Given the description of an element on the screen output the (x, y) to click on. 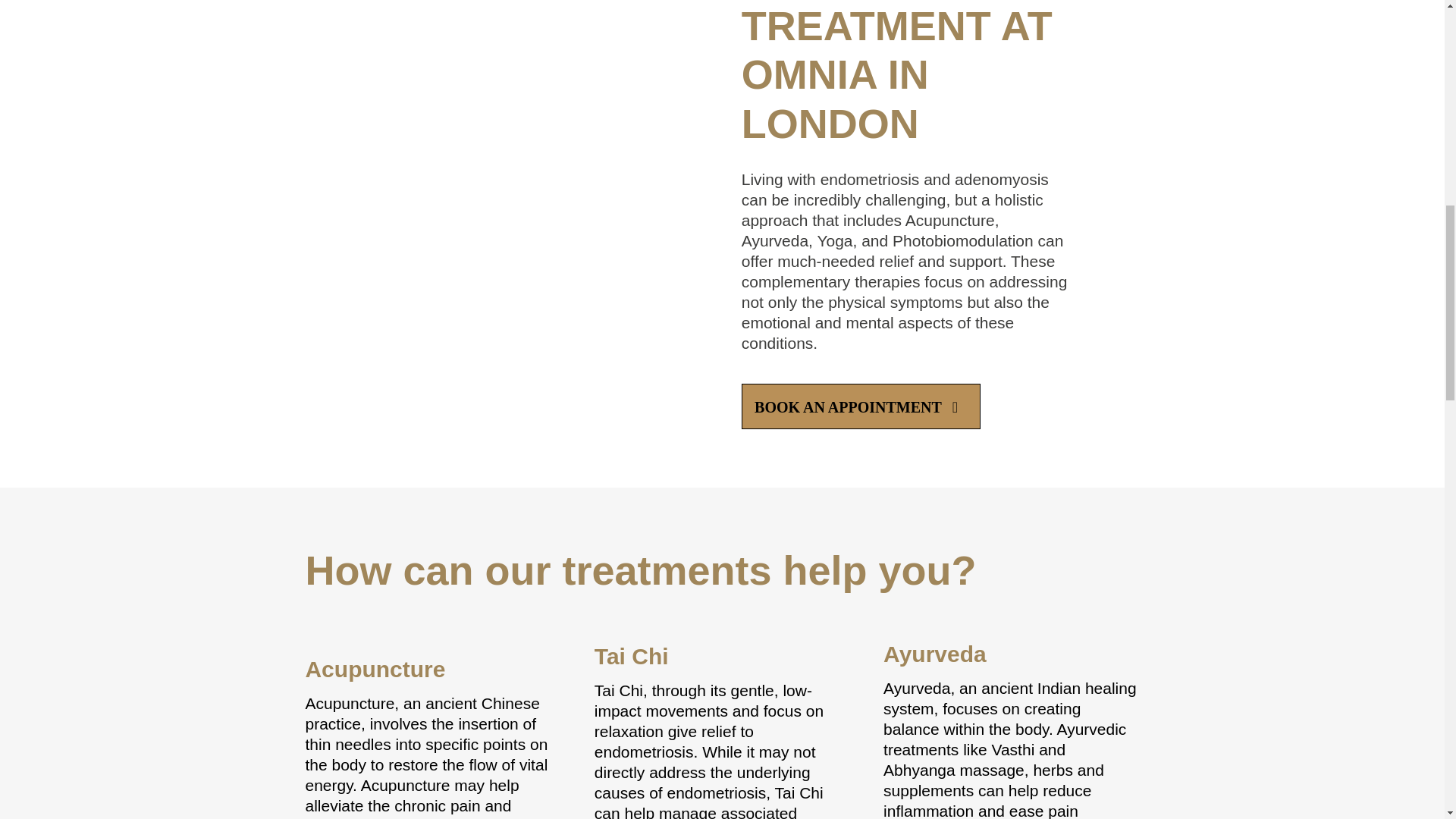
BOOK AN APPOINTMENT (860, 406)
